Given the description of an element on the screen output the (x, y) to click on. 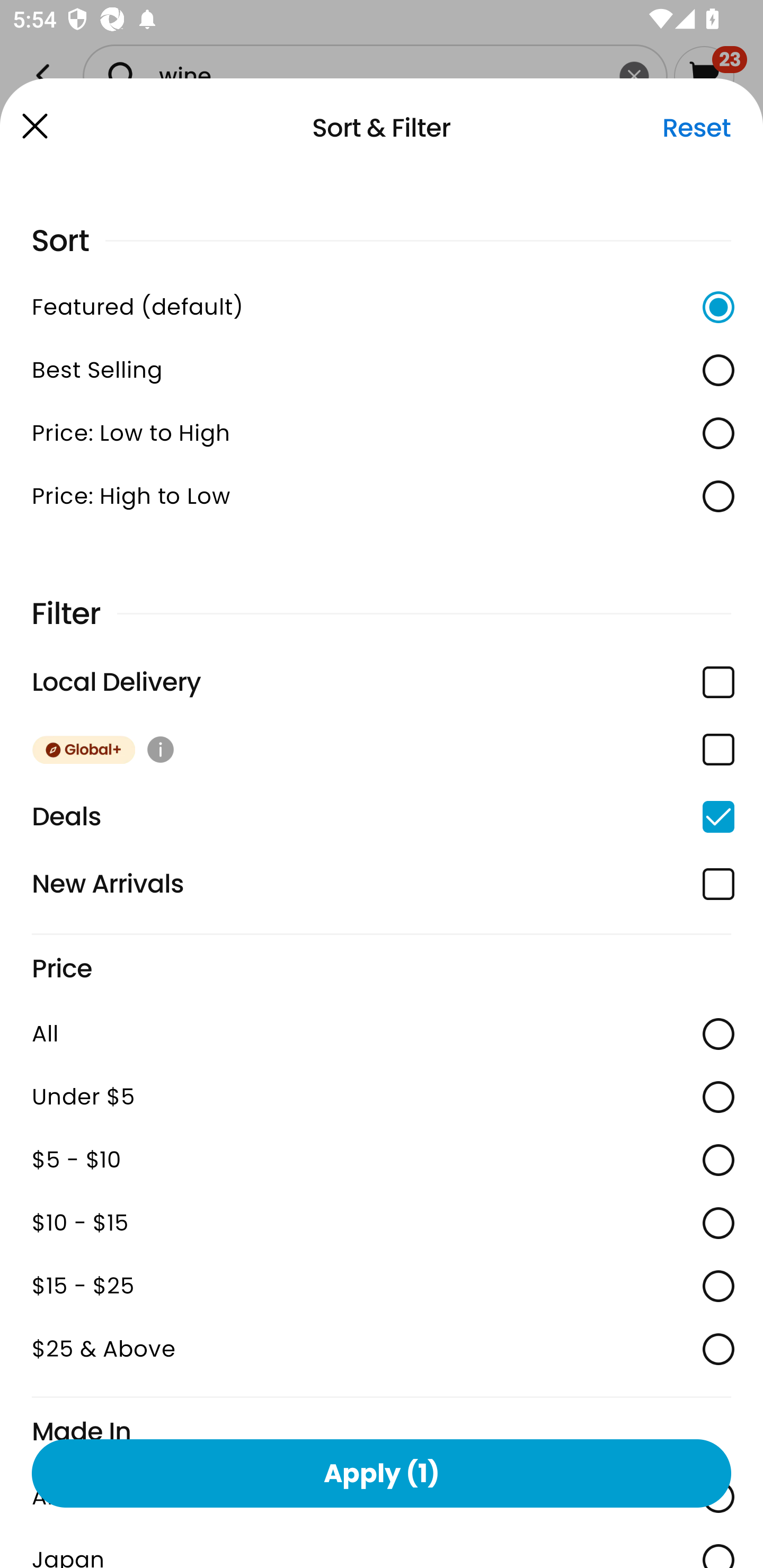
Reset (696, 127)
Apply (1) (381, 1472)
